Given the description of an element on the screen output the (x, y) to click on. 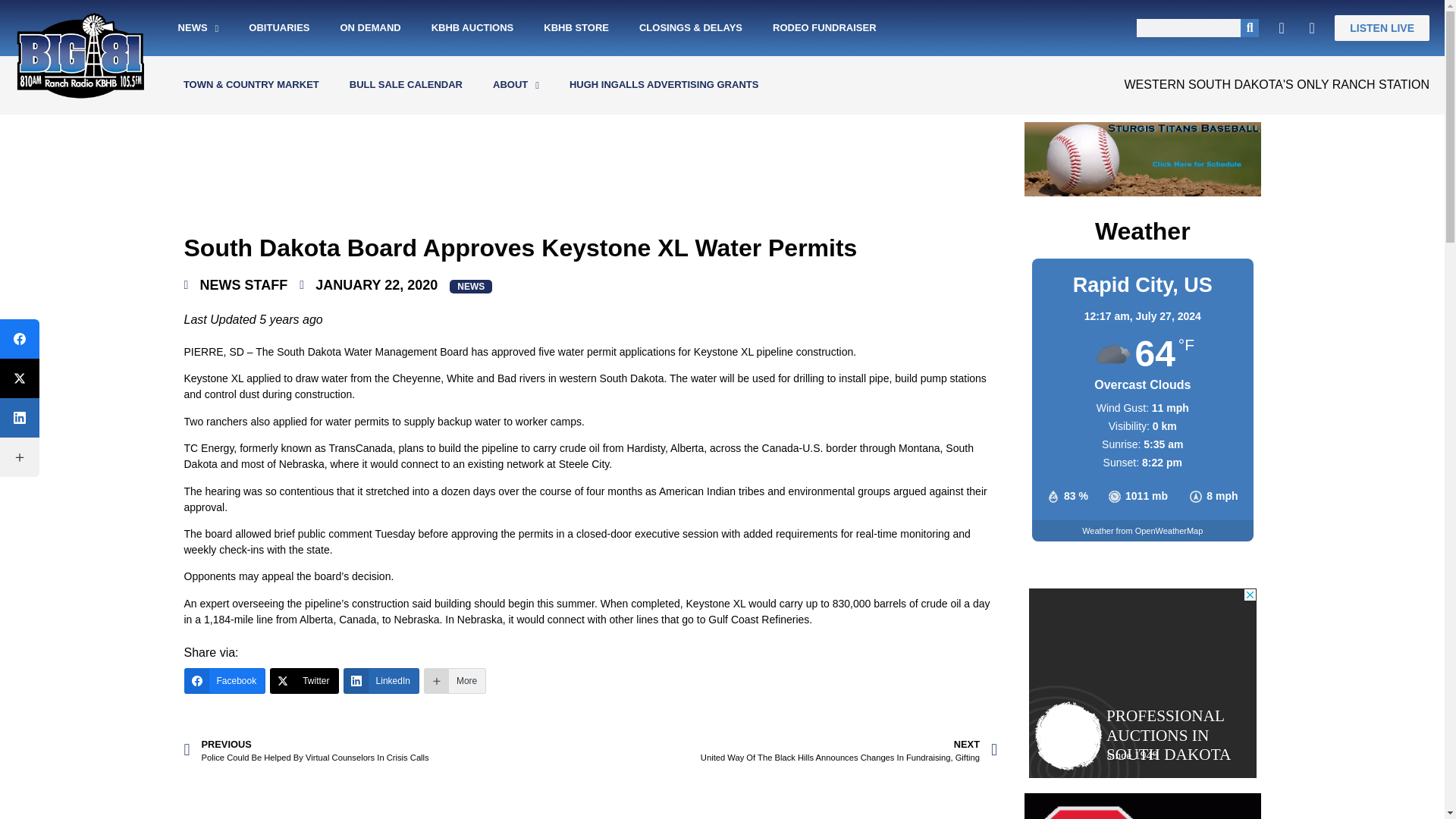
HUGH INGALLS ADVERTISING GRANTS (663, 84)
KBHB STORE (576, 27)
BULL SALE CALENDAR (405, 84)
3rd party ad content (590, 799)
ON DEMAND (369, 27)
ABOUT (515, 84)
RODEO FUNDRAISER (824, 27)
OBITUARIES (278, 27)
3rd party ad content (1142, 703)
Scooper-Logo (1142, 806)
LISTEN LIVE (1382, 27)
NEWS (198, 27)
KBHB AUCTIONS (472, 27)
